Given the description of an element on the screen output the (x, y) to click on. 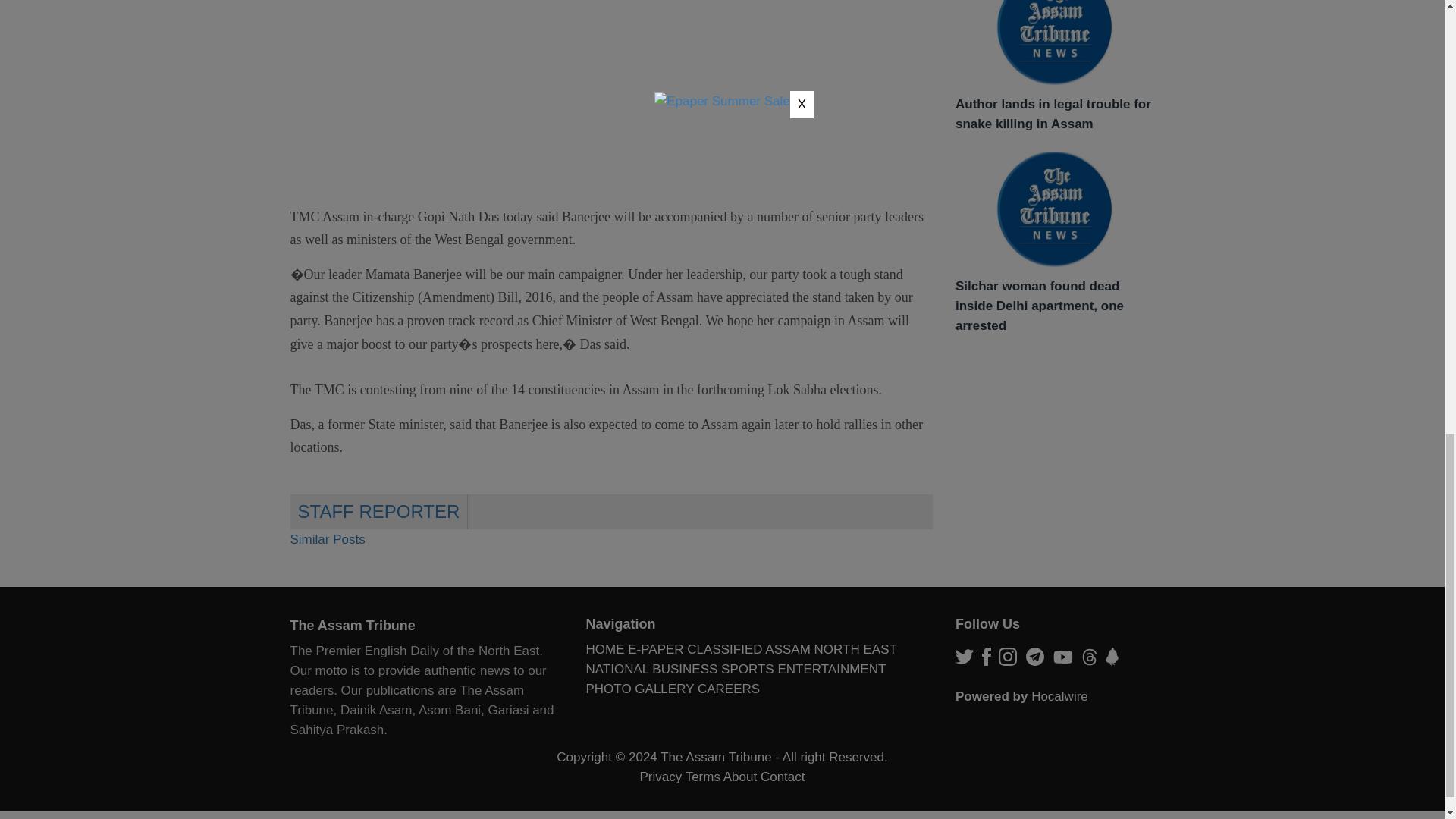
Author lands in legal trouble for snake killing in Assam (1054, 42)
